Given the description of an element on the screen output the (x, y) to click on. 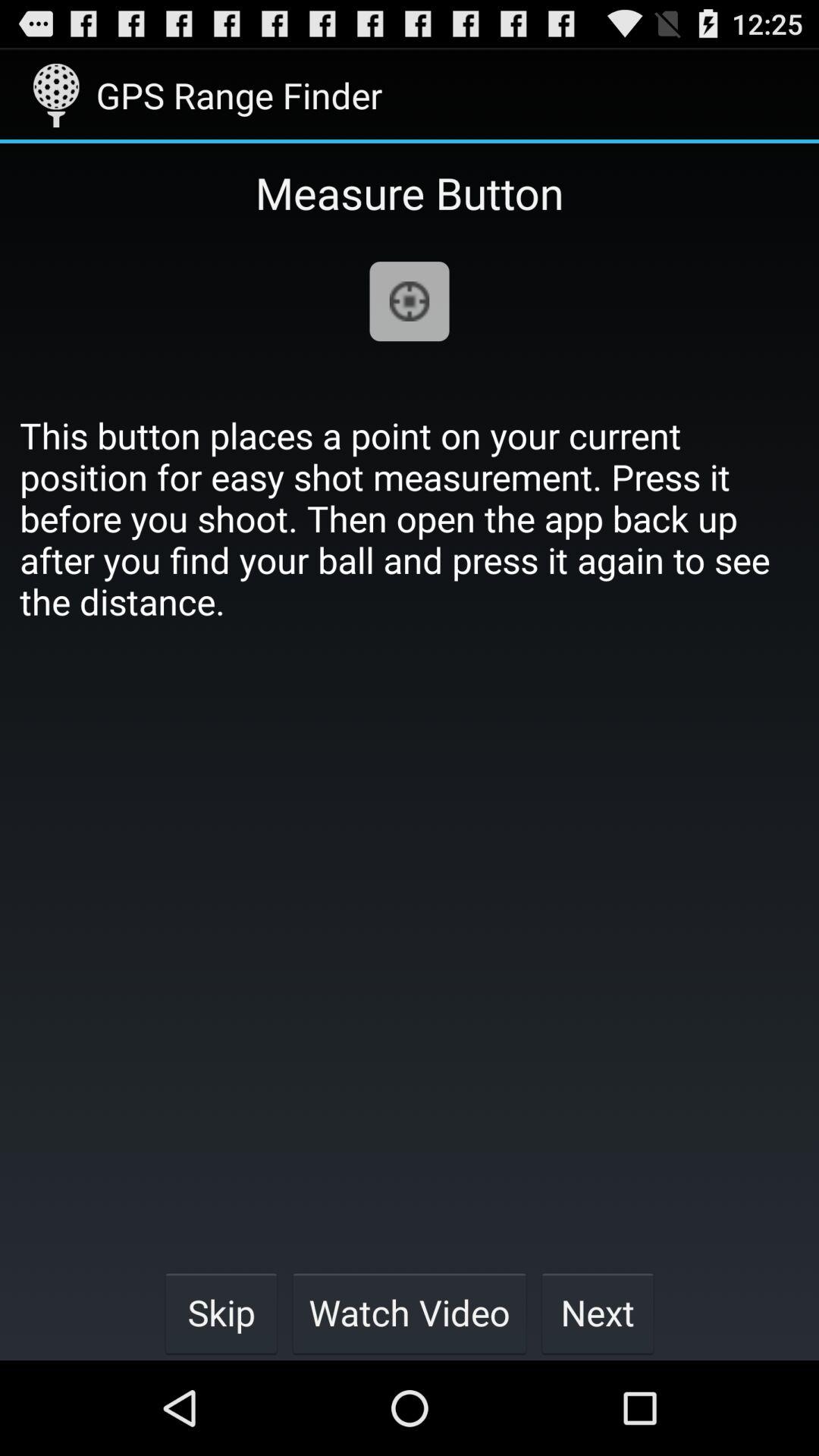
jump to the next (597, 1312)
